Given the description of an element on the screen output the (x, y) to click on. 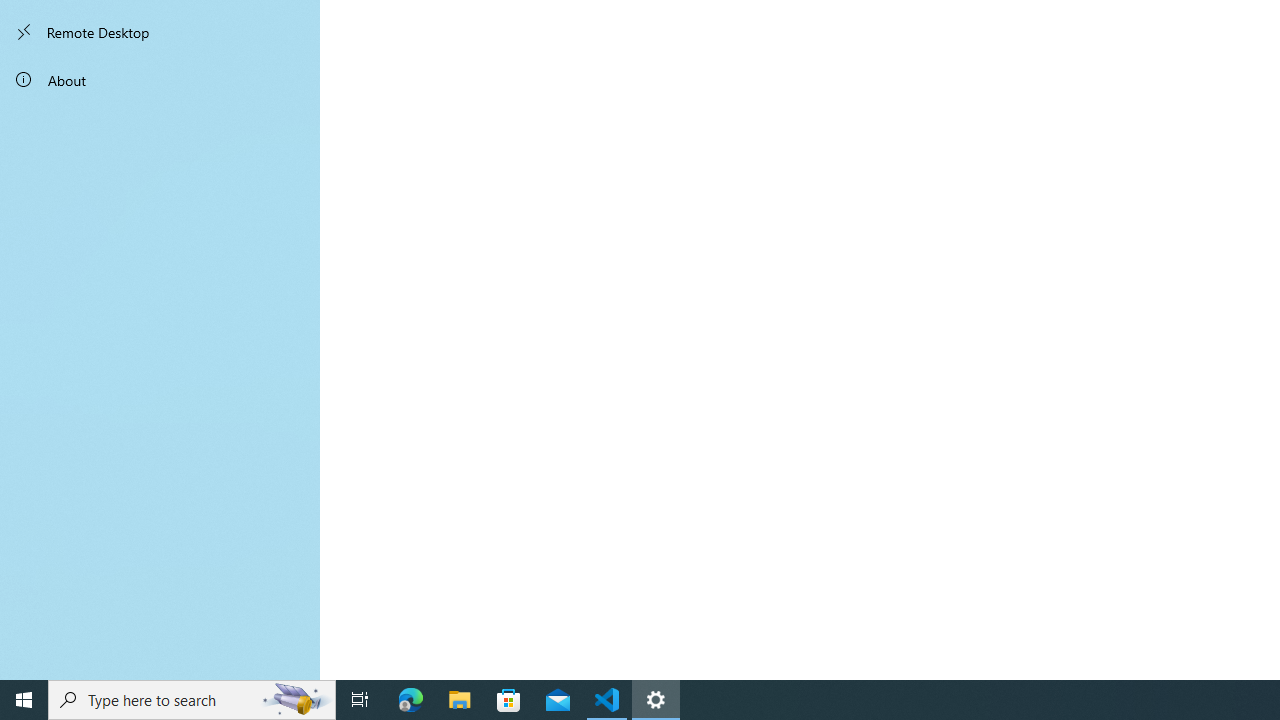
About (160, 79)
Remote Desktop (160, 31)
